Given the description of an element on the screen output the (x, y) to click on. 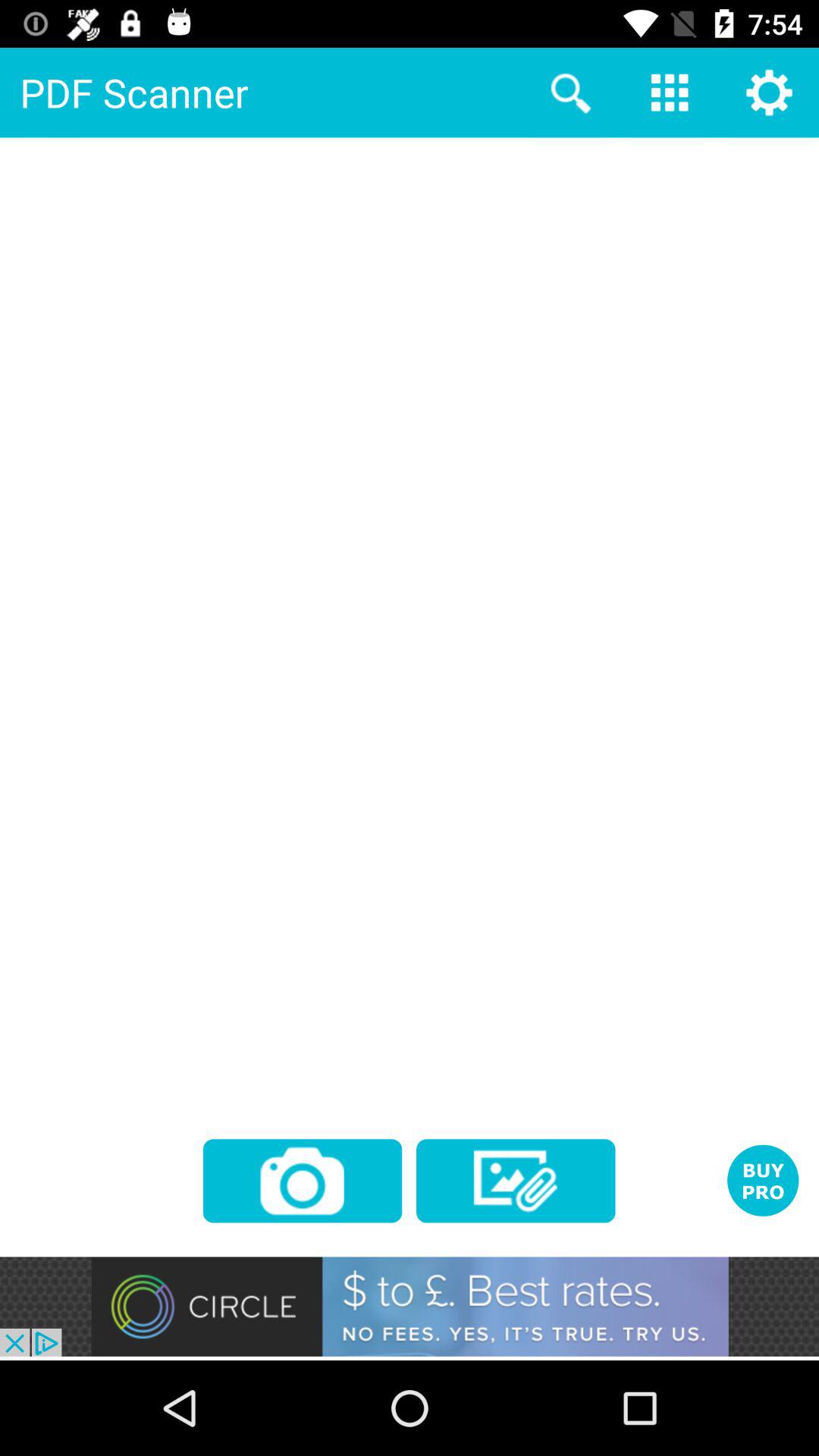
enter to buy (763, 1180)
